Given the description of an element on the screen output the (x, y) to click on. 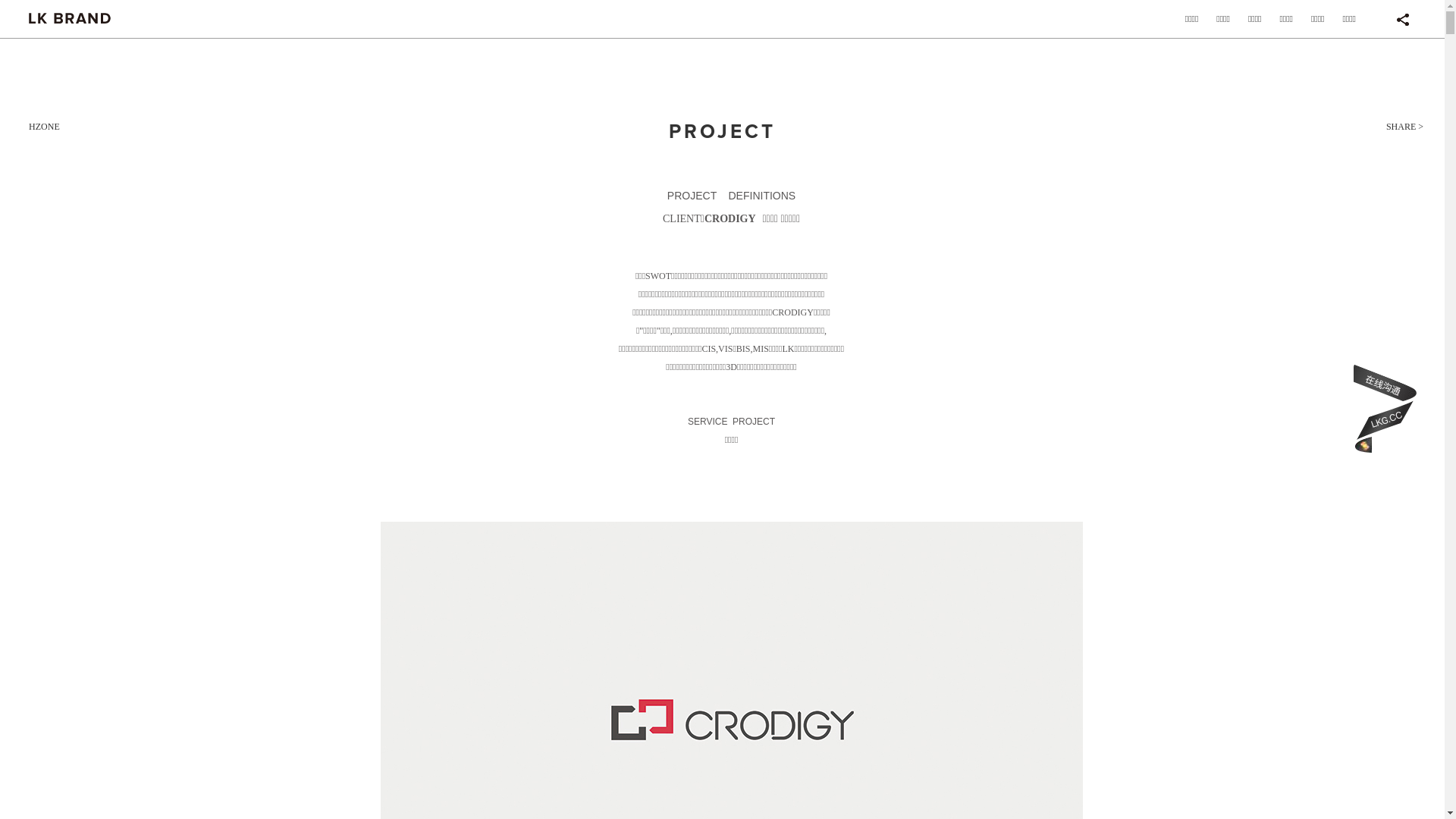
HZONE Element type: text (43, 126)
